Given the description of an element on the screen output the (x, y) to click on. 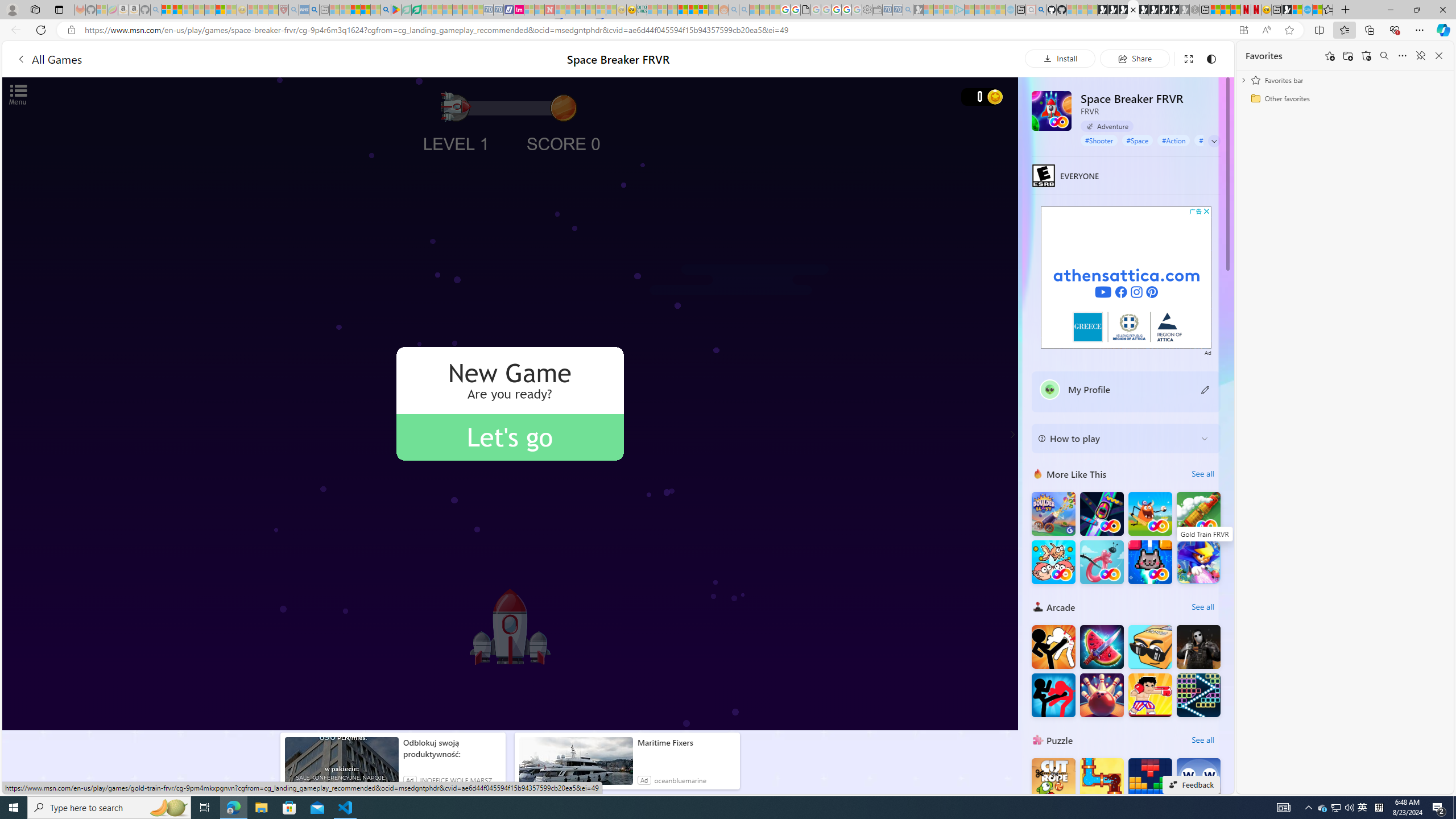
More Like This (1037, 473)
Close favorites (1439, 55)
Castle Of Magic (1198, 562)
#Shooter (1099, 140)
Cheap Car Rentals - Save70.com - Sleeping (897, 9)
#Action (1174, 140)
Latest Politics News & Archive | Newsweek.com - Sleeping (549, 9)
